Given the description of an element on the screen output the (x, y) to click on. 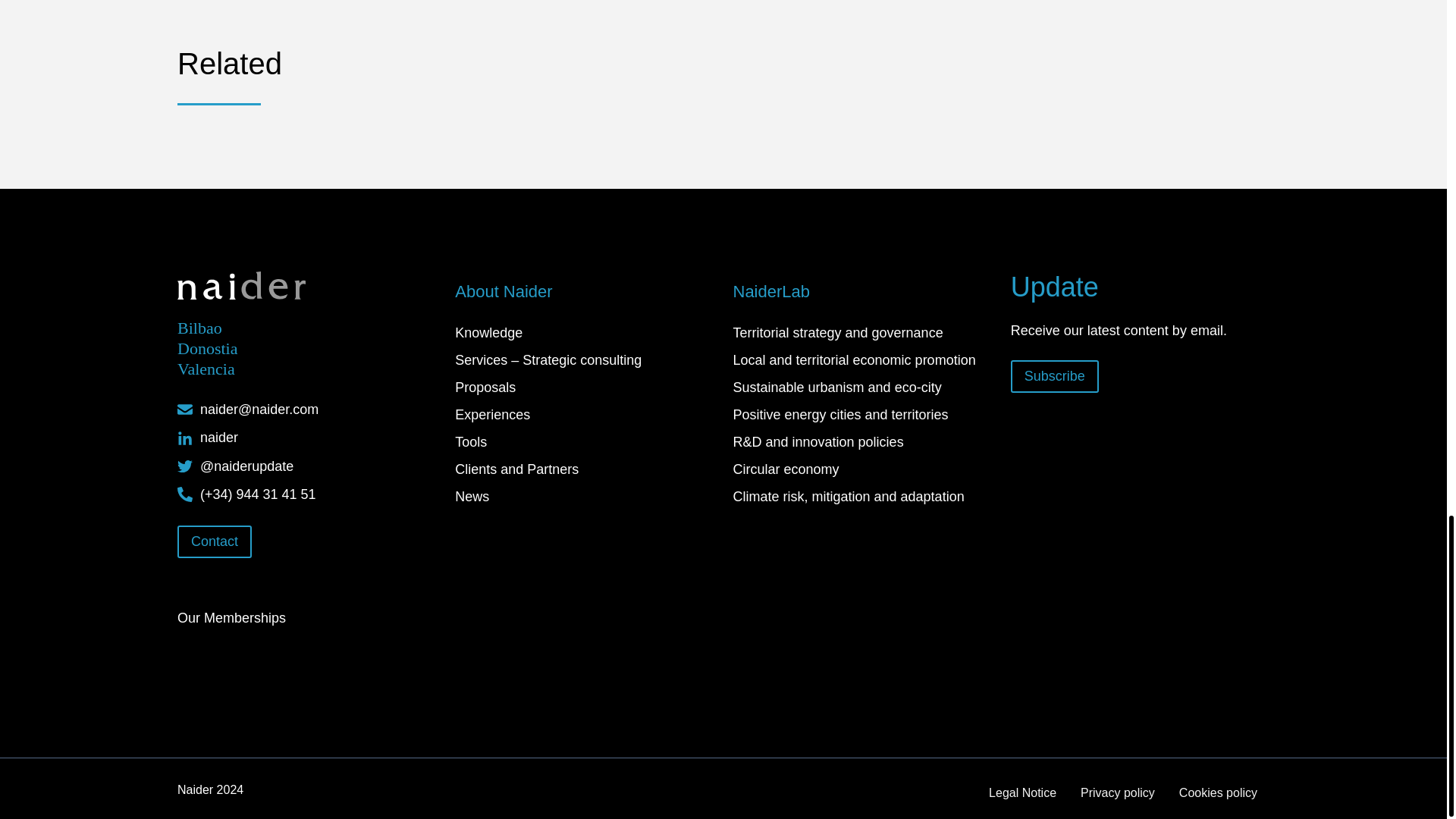
Clients and Partners (583, 469)
Circular economy (861, 469)
News (583, 496)
Experiences (583, 414)
About Naider (583, 291)
Contact (214, 541)
Territorial strategy and governance (861, 332)
Positive energy cities and territories (861, 414)
Tools (583, 441)
Sustainable urbanism and eco-city (861, 387)
Proposals (583, 387)
NaiderLab (861, 291)
Climate risk, mitigation and adaptation (861, 496)
Knowledge (583, 332)
Subscribe (1054, 376)
